Given the description of an element on the screen output the (x, y) to click on. 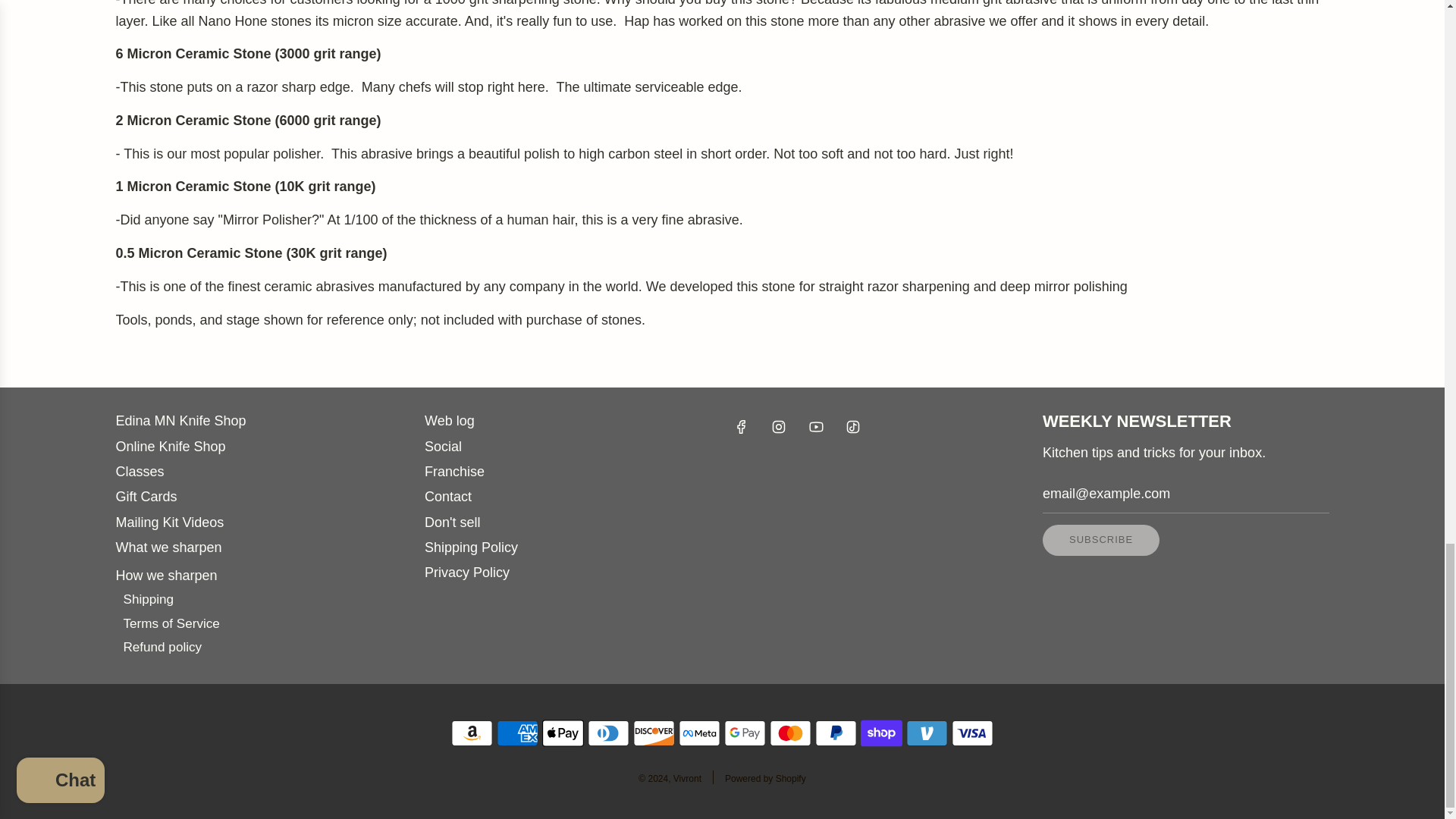
Venmo (926, 733)
Meta Pay (699, 733)
Amazon (472, 733)
Discover (654, 733)
Shop Pay (881, 733)
American Express (517, 733)
Mastercard (790, 733)
Visa (972, 733)
Google Pay (744, 733)
Apple Pay (562, 733)
